Given the description of an element on the screen output the (x, y) to click on. 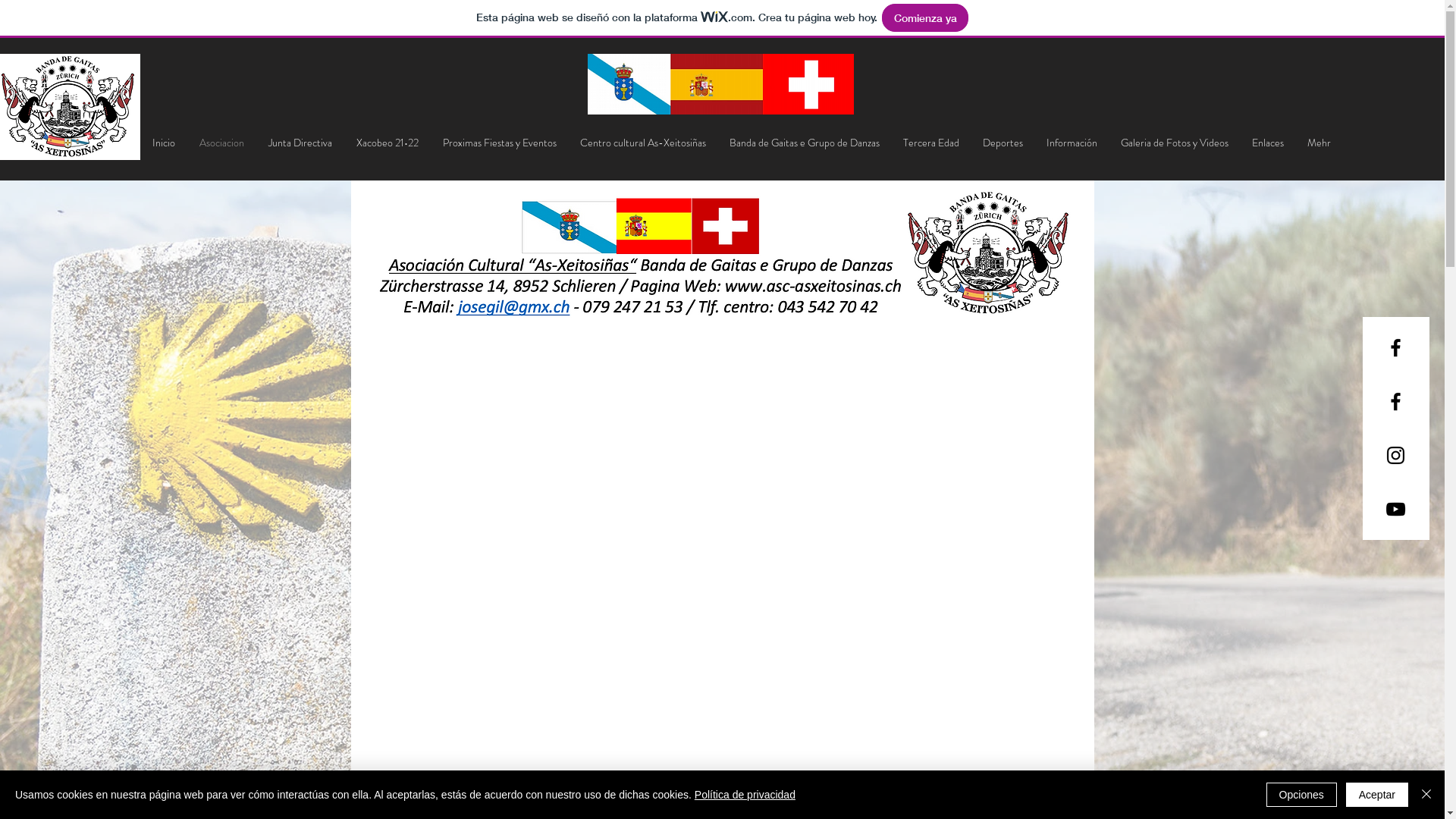
Junta Directiva Element type: text (300, 142)
Galeria de Fotos y Videos Element type: text (1173, 142)
Asociacion Element type: text (220, 142)
Aceptar Element type: text (1377, 794)
Proximas Fiestas y Eventos Element type: text (499, 142)
Enlaces Element type: text (1267, 142)
Opciones Element type: text (1301, 794)
Tercera Edad Element type: text (931, 142)
Bildschirmfoto 2023-01-21 um 09.44.45.png Element type: hover (722, 255)
Deportes Element type: text (1002, 142)
Banda de Gaitas e Grupo de Danzas Element type: text (804, 142)
Inicio Element type: text (162, 142)
